Given the description of an element on the screen output the (x, y) to click on. 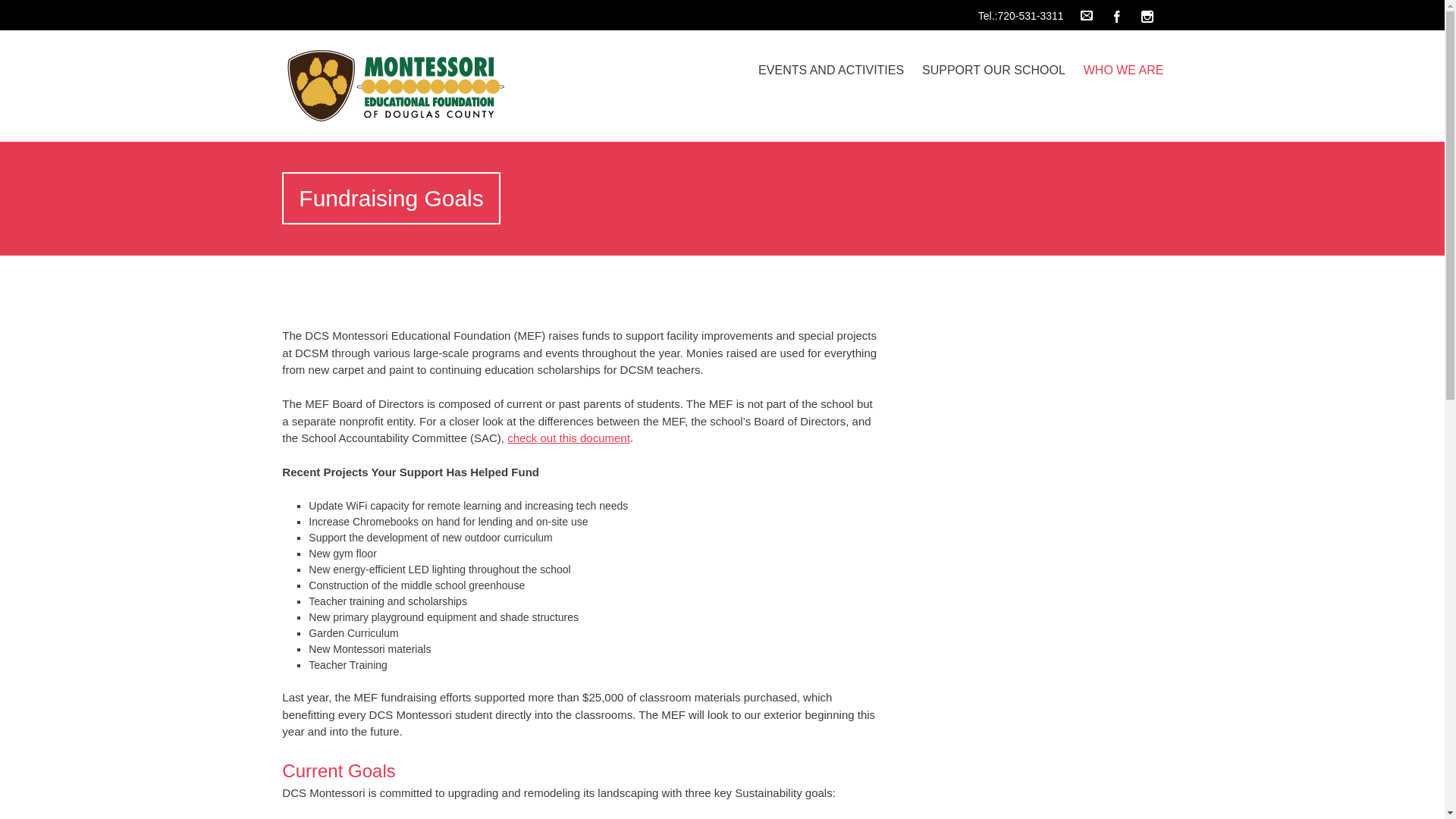
EVENTS AND ACTIVITIES (831, 70)
DCS Montessori Educational Foundation -  (413, 85)
WHO WE ARE (1123, 70)
Contact (1086, 15)
check out this document (568, 437)
SUPPORT OUR SCHOOL (993, 70)
Tel.:720-531-3311 (1024, 12)
Facebook (1117, 15)
Instagram (1146, 15)
